Given the description of an element on the screen output the (x, y) to click on. 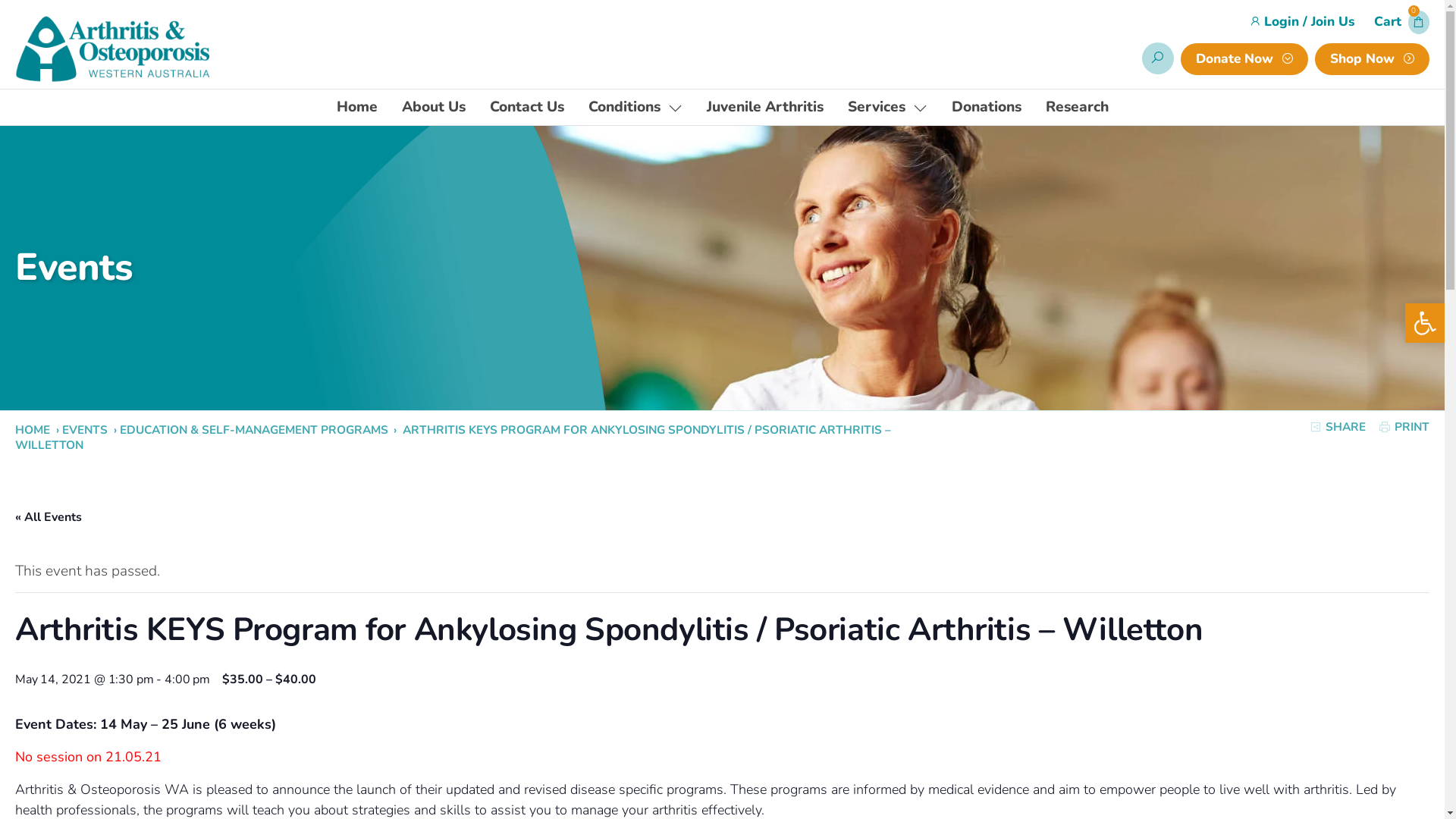
Conditions Element type: text (635, 107)
SHARE Element type: text (1336, 426)
Contact Us Element type: text (526, 107)
Research Element type: text (1076, 107)
Cart
0 Element type: text (1401, 22)
Login / Join Us Element type: text (1307, 21)
Services Element type: text (887, 107)
Shop Now Element type: text (1371, 59)
Open toolbar
Accessibility Tools Element type: text (1424, 322)
Juvenile Arthritis Element type: text (764, 107)
About Us Element type: text (433, 107)
EVENTS Element type: text (86, 429)
HOME Element type: text (34, 429)
Donate Now Element type: text (1244, 59)
PRINT Element type: text (1403, 426)
Home Element type: text (356, 107)
Donations Element type: text (985, 107)
EDUCATION & SELF-MANAGEMENT PROGRAMS Element type: text (255, 429)
